Given the description of an element on the screen output the (x, y) to click on. 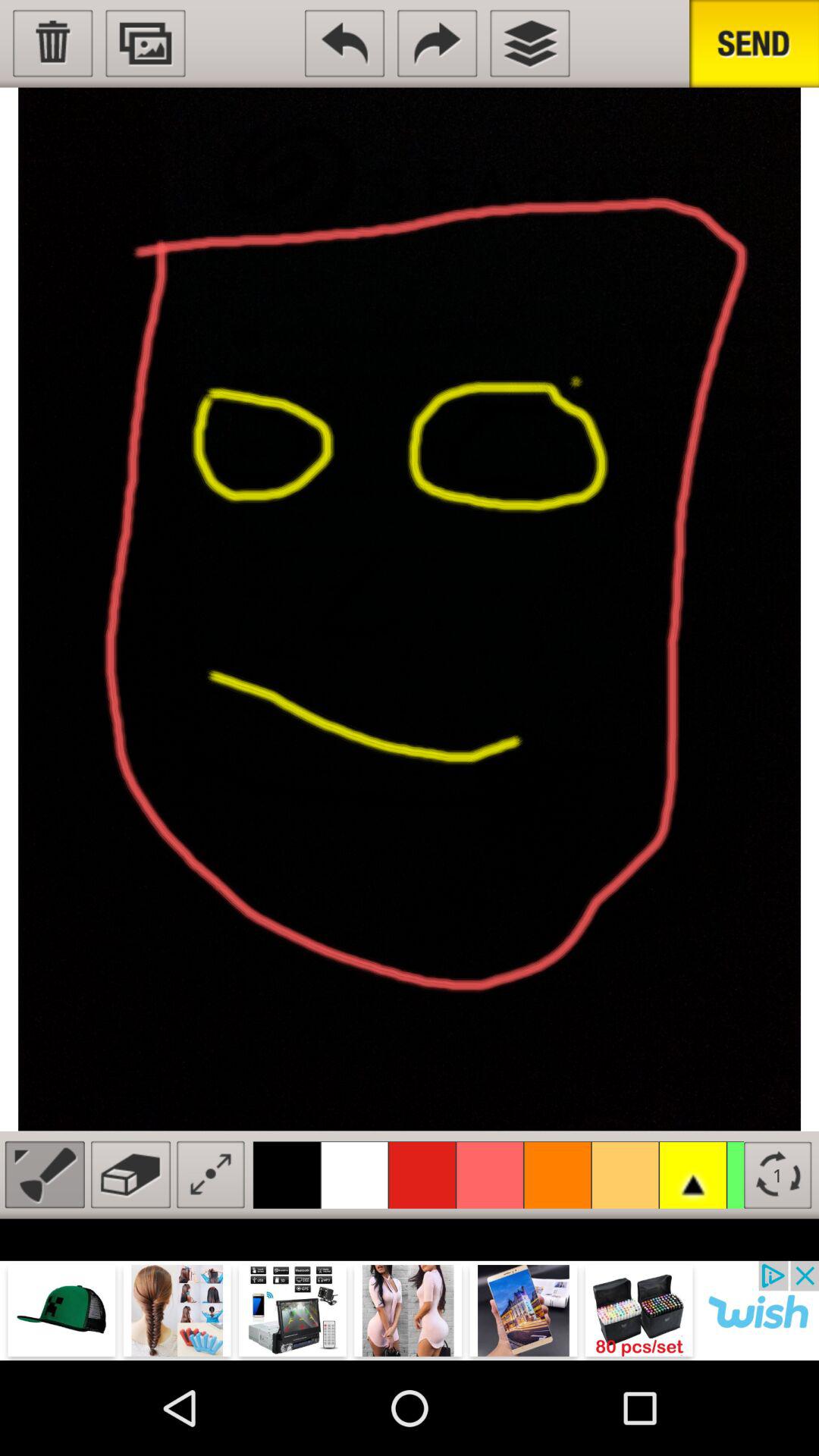
expand the picture (210, 1174)
